Given the description of an element on the screen output the (x, y) to click on. 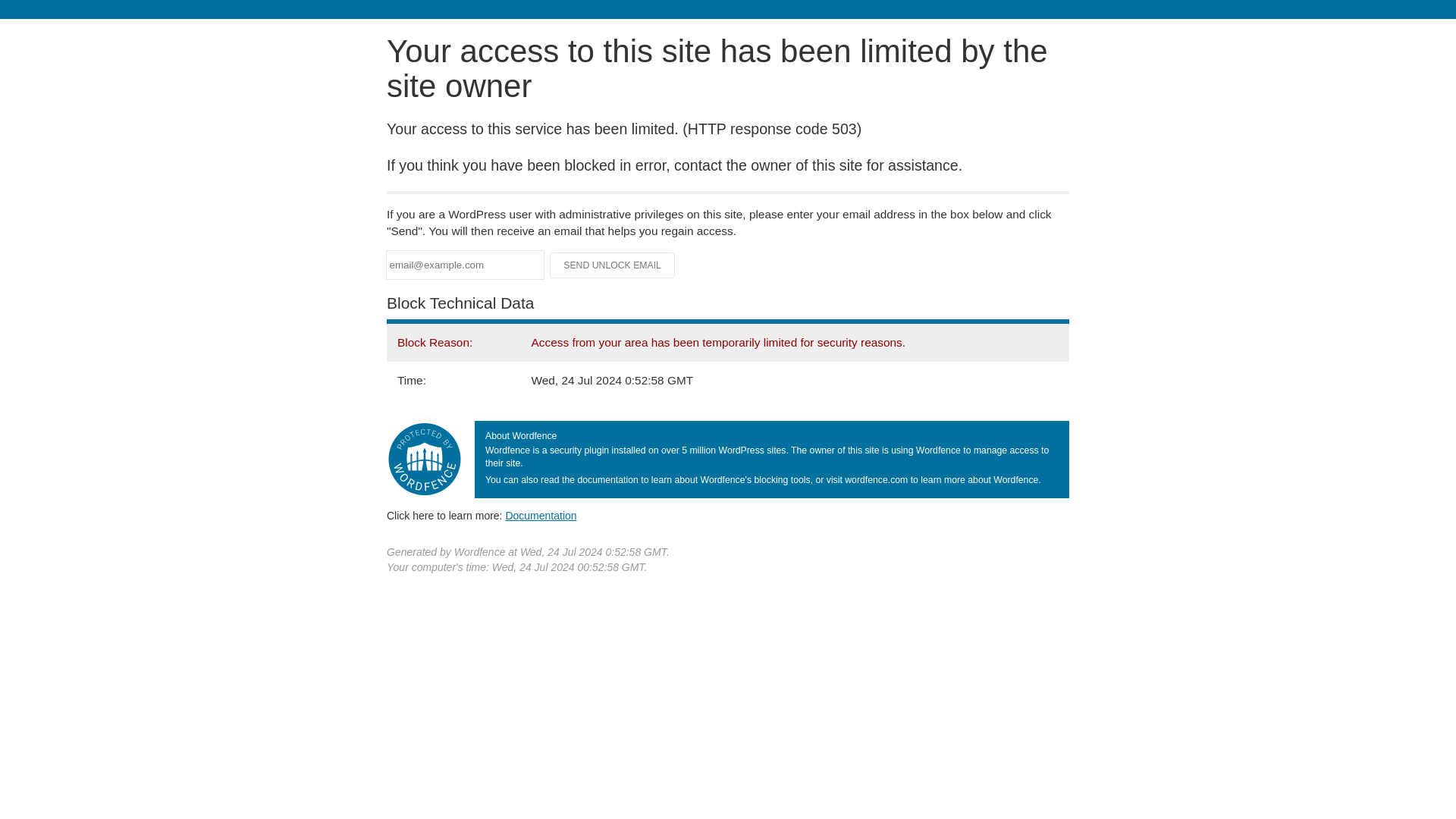
Send Unlock Email (612, 265)
Documentation (540, 515)
Send Unlock Email (612, 265)
